Given the description of an element on the screen output the (x, y) to click on. 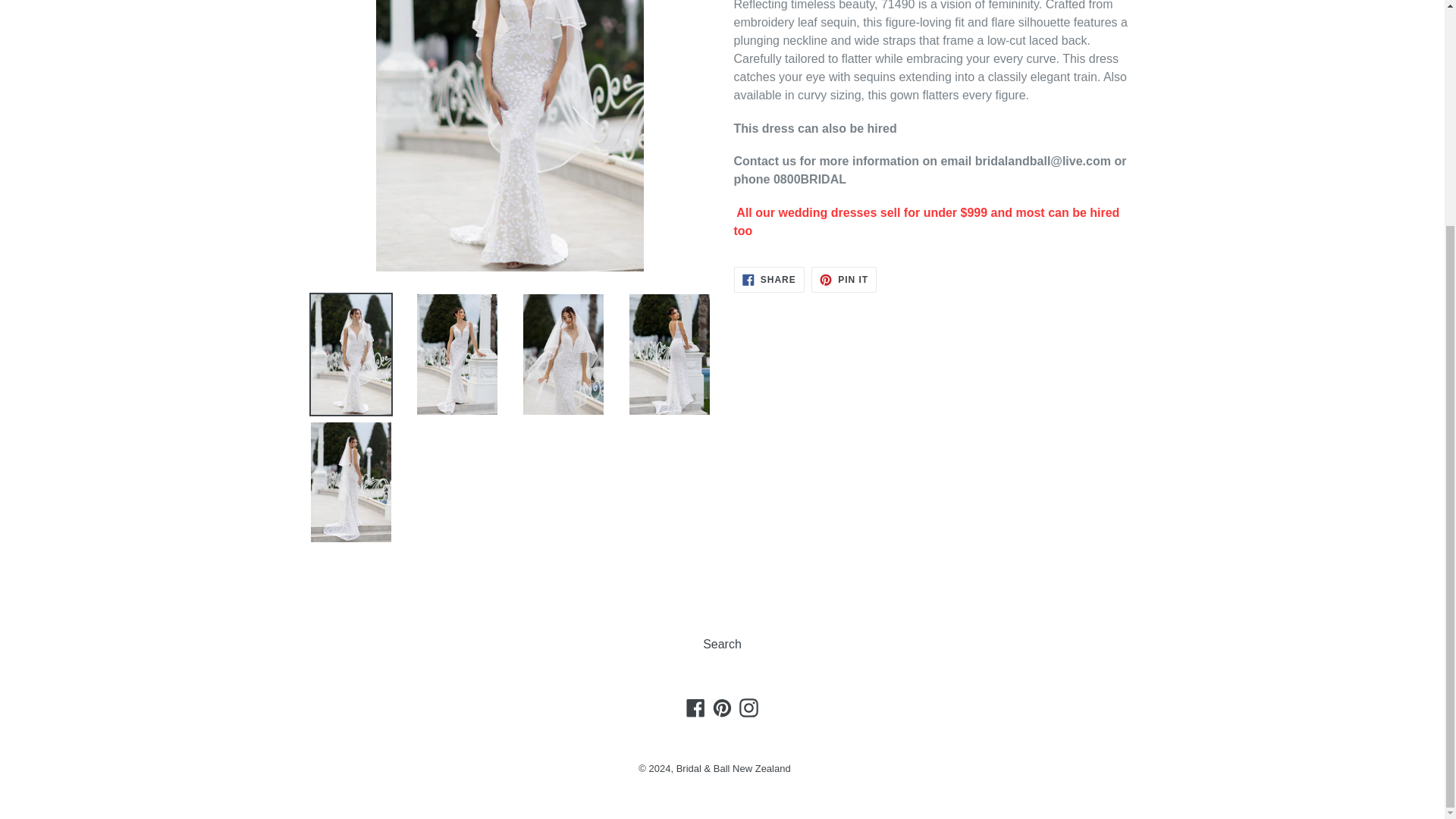
Share on Facebook (769, 279)
Pin on Pinterest (843, 279)
